Given the description of an element on the screen output the (x, y) to click on. 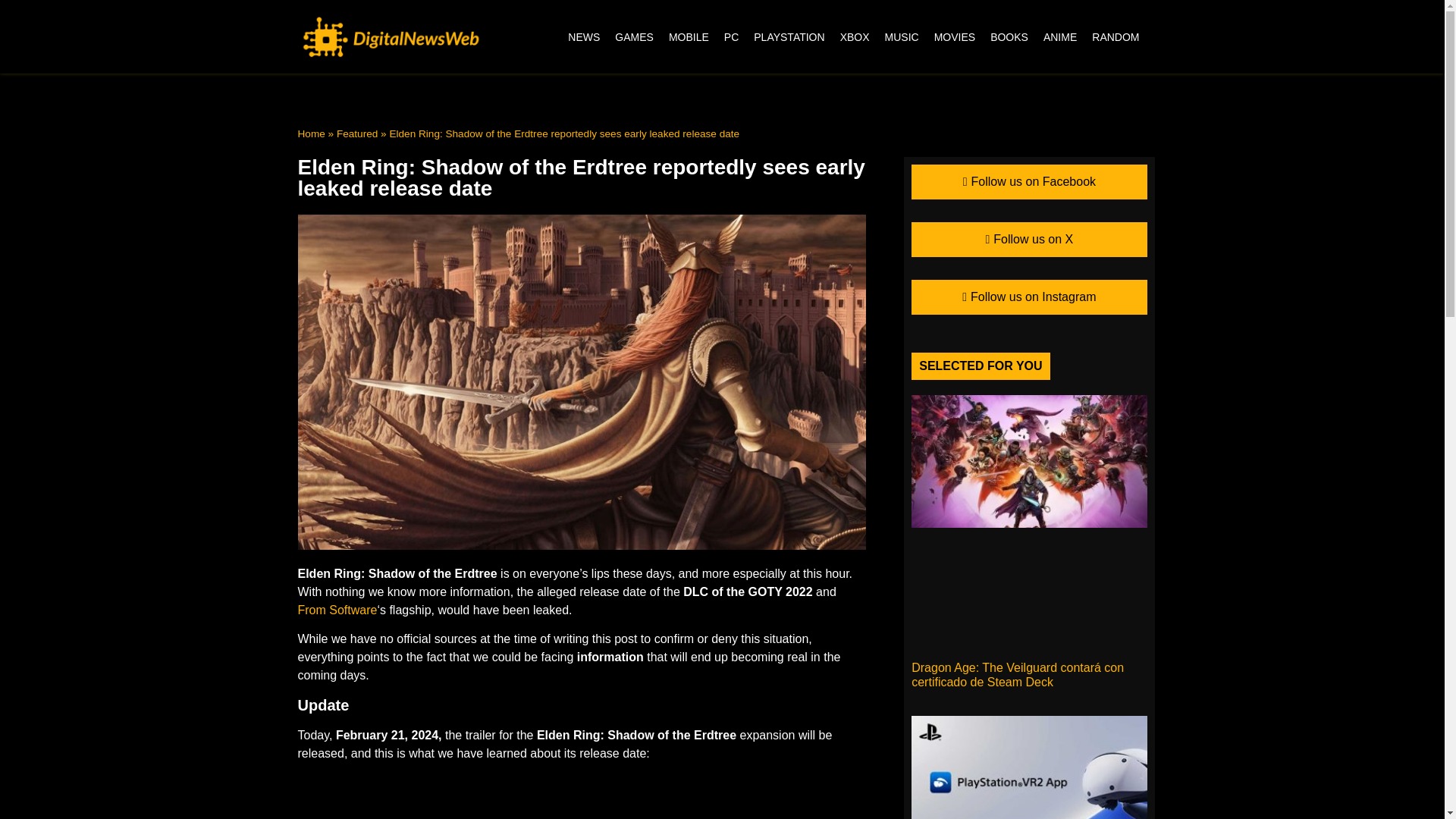
Follow us on Facebook (1029, 181)
PLAYSTATION (788, 36)
BOOKS (1008, 36)
NEWS (583, 36)
ANIME (1059, 36)
XBOX (854, 36)
Featured (356, 133)
RANDOM (1115, 36)
MOVIES (954, 36)
MUSIC (901, 36)
MOBILE (688, 36)
From Software (337, 609)
Follow us on X (1029, 239)
Follow us on Instagram (1029, 297)
PC (730, 36)
